Given the description of an element on the screen output the (x, y) to click on. 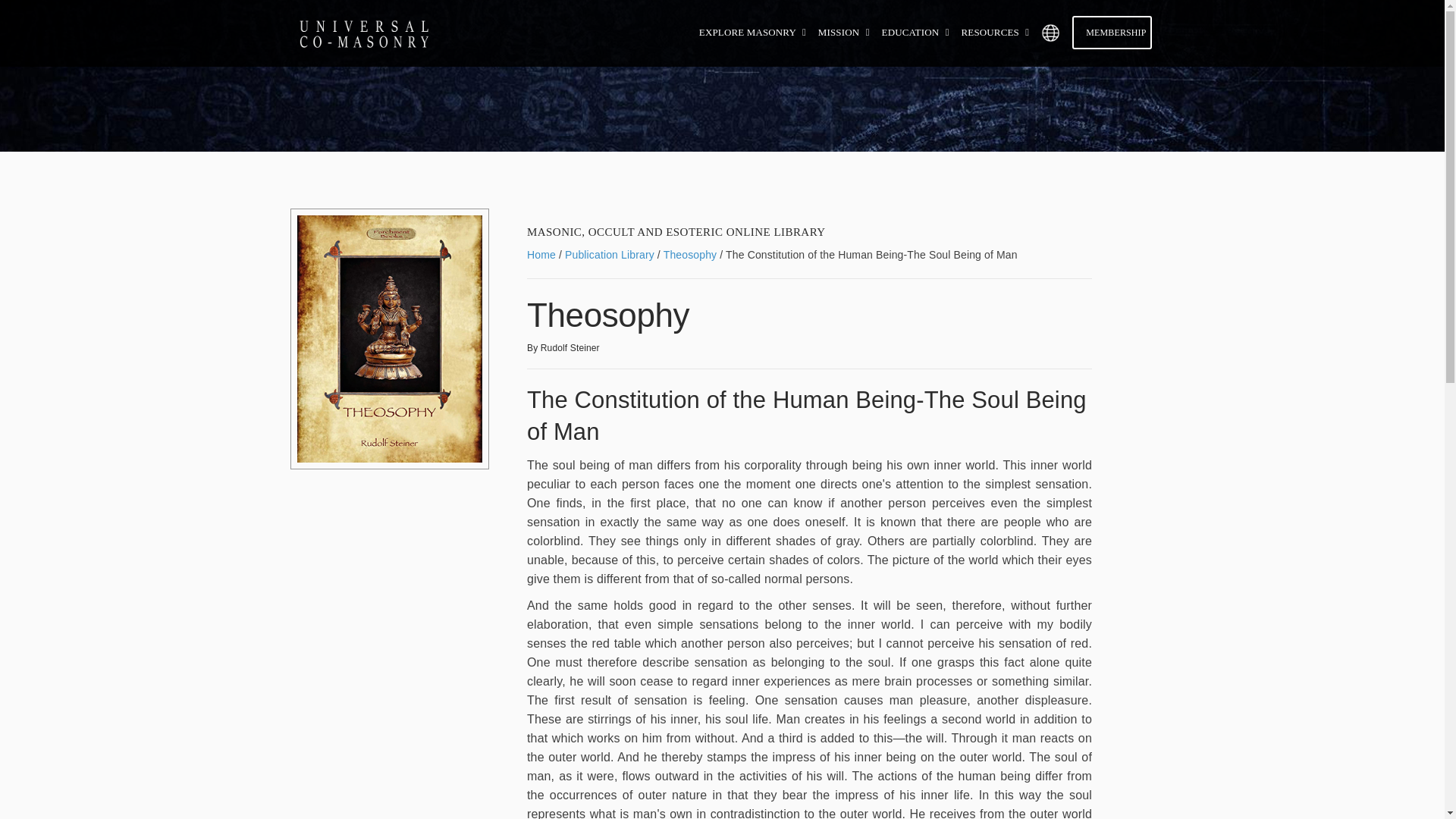
MISSION (845, 32)
EDUCATION (917, 32)
Mission (845, 32)
EXPLORE MASONRY (753, 32)
Discover Freemasonry (753, 32)
